Given the description of an element on the screen output the (x, y) to click on. 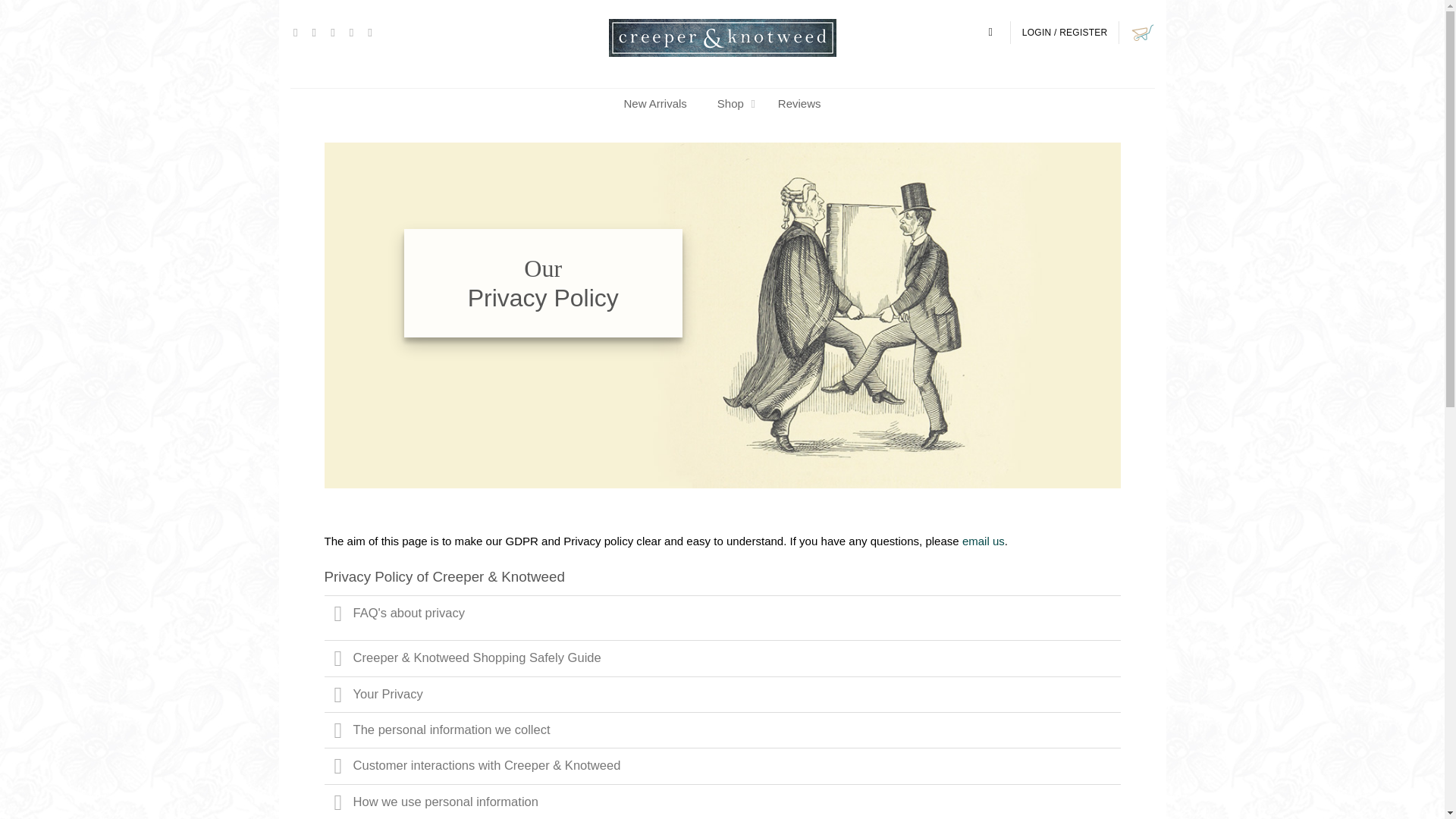
Shop (731, 103)
New Arrivals (654, 103)
